Given the description of an element on the screen output the (x, y) to click on. 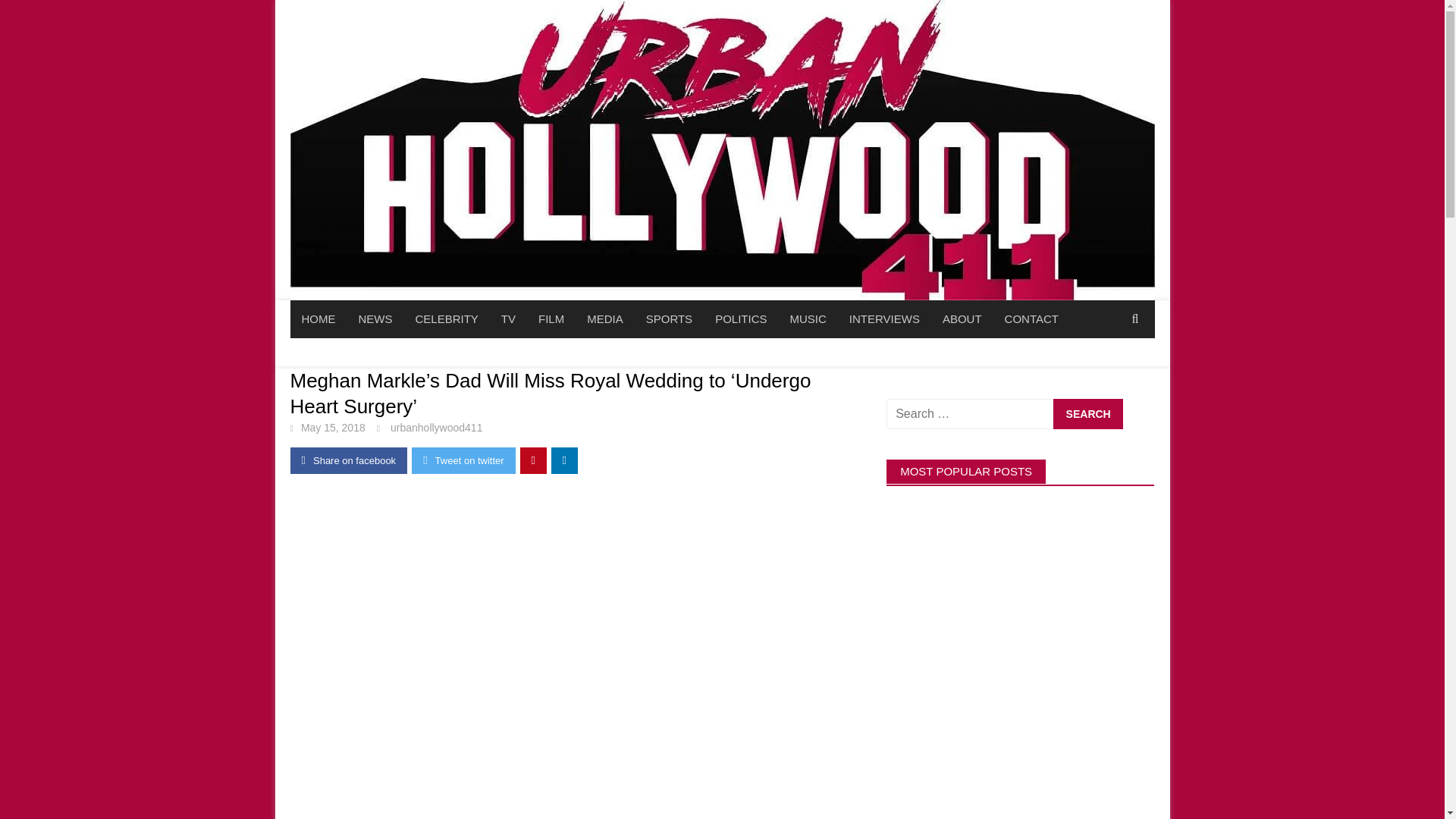
FILM (551, 319)
May 15, 2018 (333, 427)
TV (508, 319)
Tweet on twitter (463, 460)
INTERVIEWS (884, 319)
Search (1087, 413)
POLITICS (740, 319)
HOME (317, 319)
NEWS (375, 319)
SPORTS (668, 319)
MEDIA (604, 319)
CONTACT (1031, 319)
Share on facebook (348, 460)
urbanhollywood411 (435, 427)
CELEBRITY (446, 319)
